Given the description of an element on the screen output the (x, y) to click on. 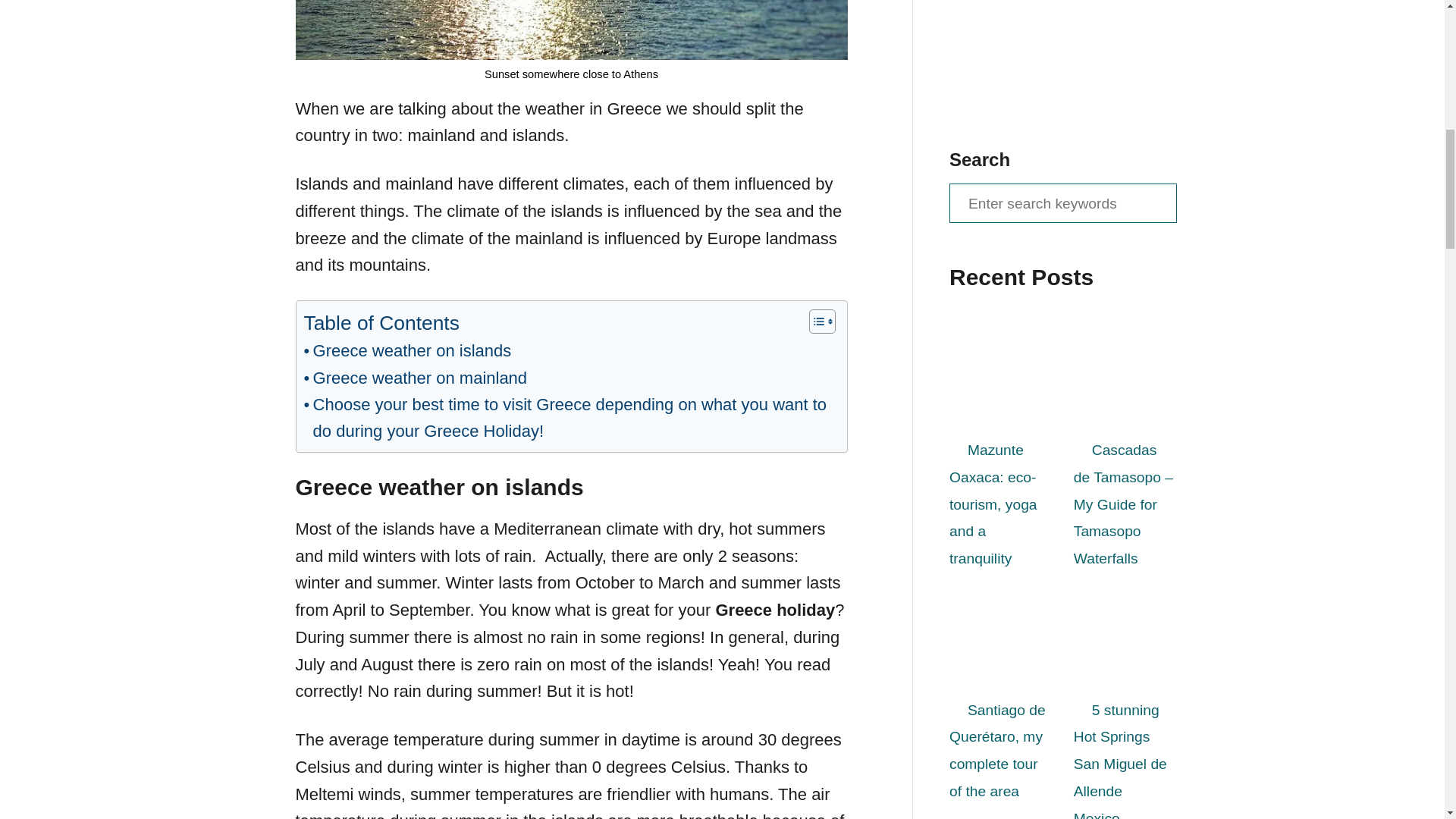
Greece weather on mainland (414, 377)
Greece weather on mainland (414, 377)
Greece weather on islands (406, 350)
Greece weather on islands (406, 350)
Search for: (1062, 202)
